Given the description of an element on the screen output the (x, y) to click on. 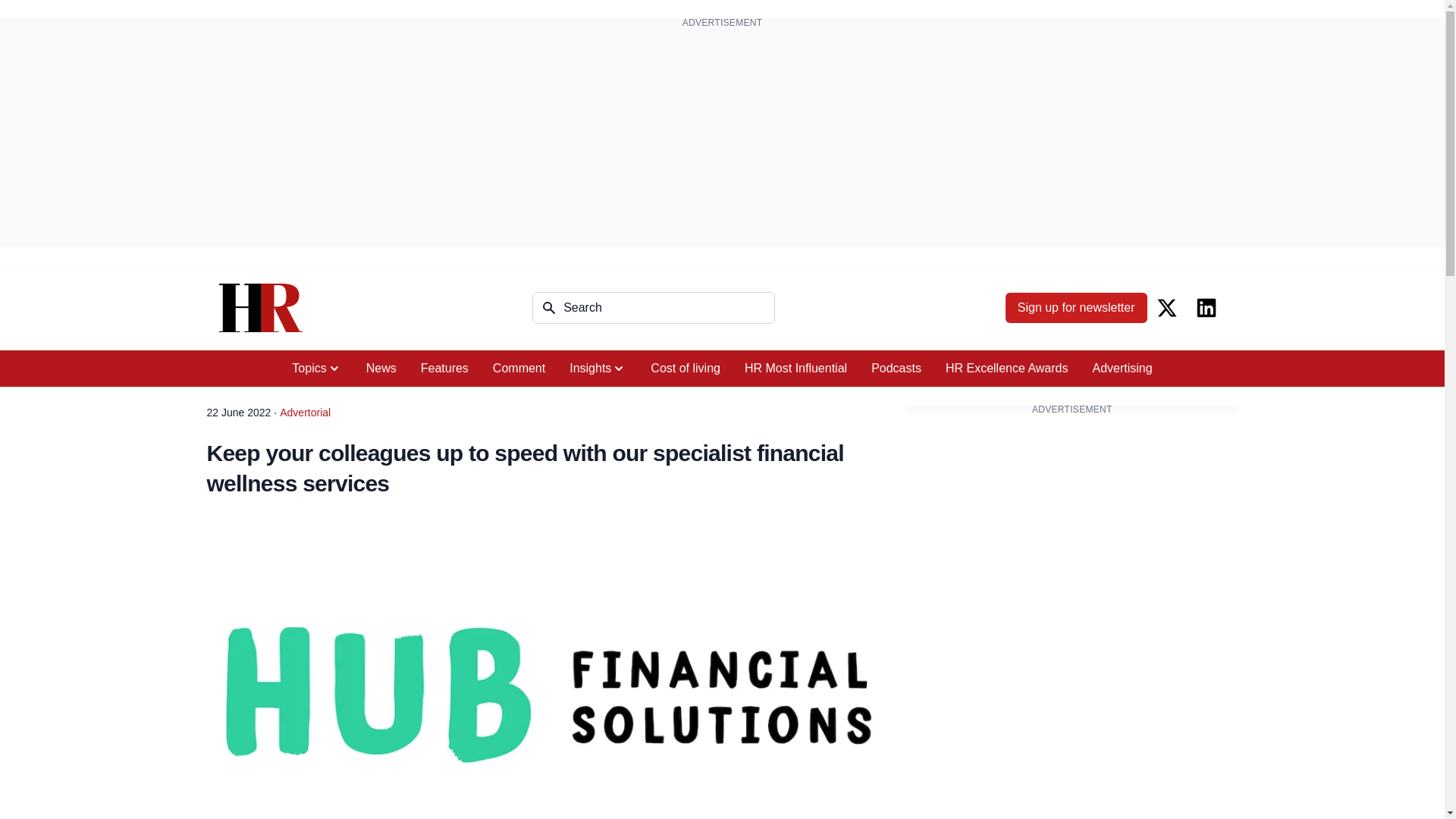
Comment (518, 368)
HR Most Influential (795, 368)
News (381, 368)
Insights (598, 368)
3rd party ad content (1072, 520)
Sign up for newsletter (1076, 307)
Features (444, 368)
Topics (316, 368)
Cost of living (685, 368)
